Given the description of an element on the screen output the (x, y) to click on. 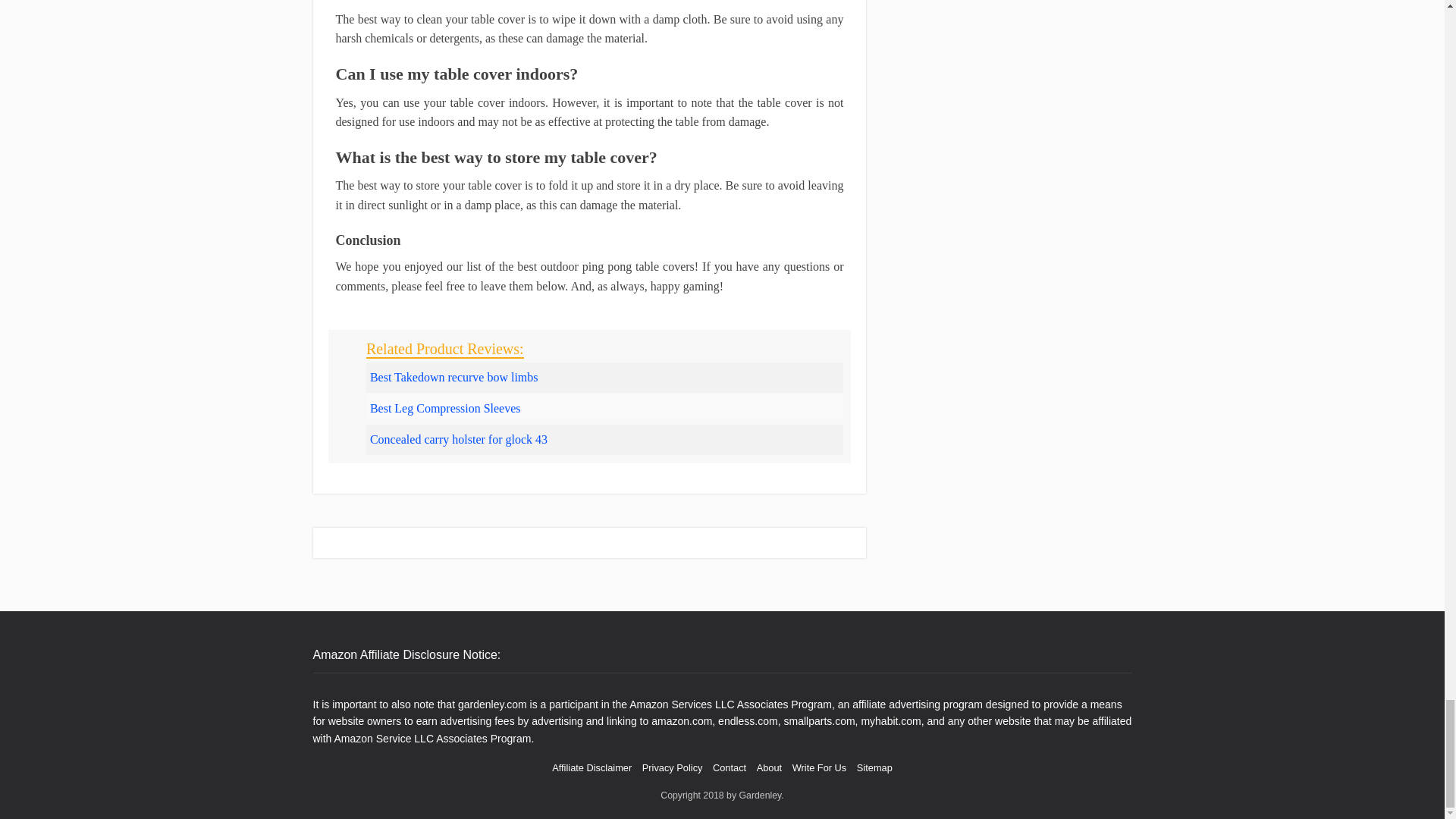
Best Takedown recurve bow limbs (453, 377)
Concealed carry holster for glock 43 (458, 439)
Best Leg Compression Sleeves (445, 408)
